Given the description of an element on the screen output the (x, y) to click on. 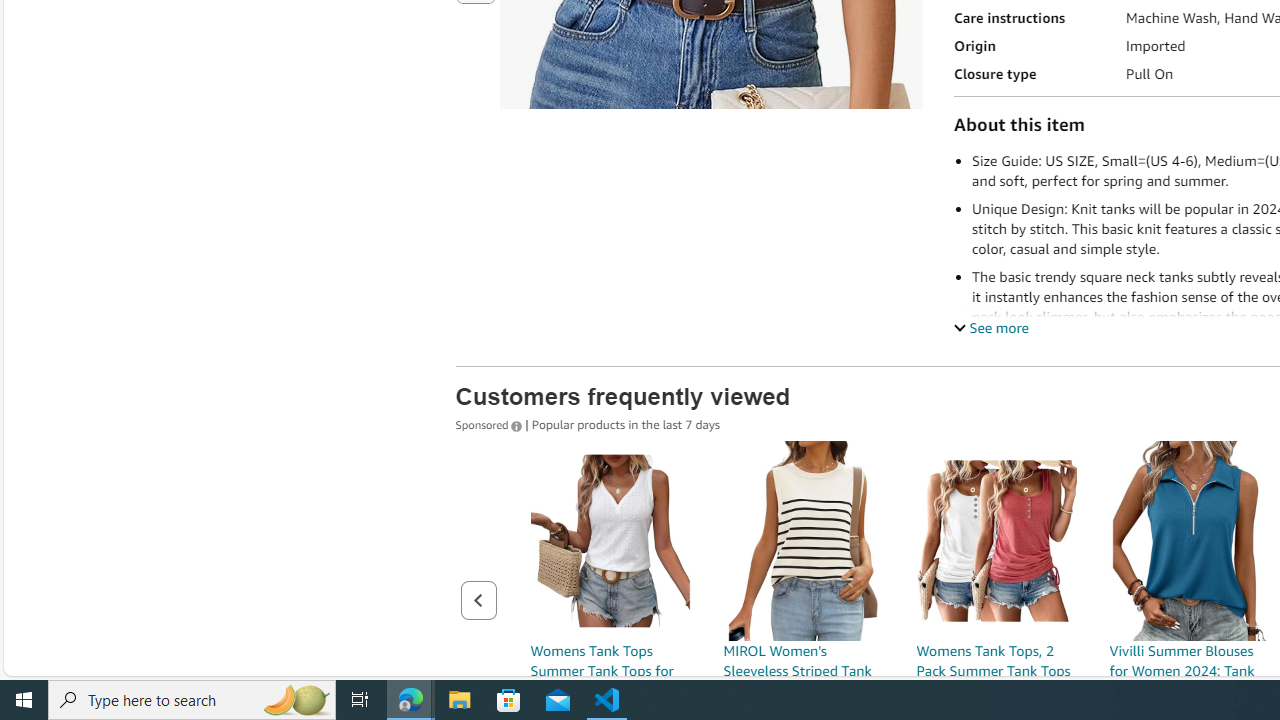
Sponsored  (490, 423)
Previous page of related Sponsored Products (477, 600)
